Given the description of an element on the screen output the (x, y) to click on. 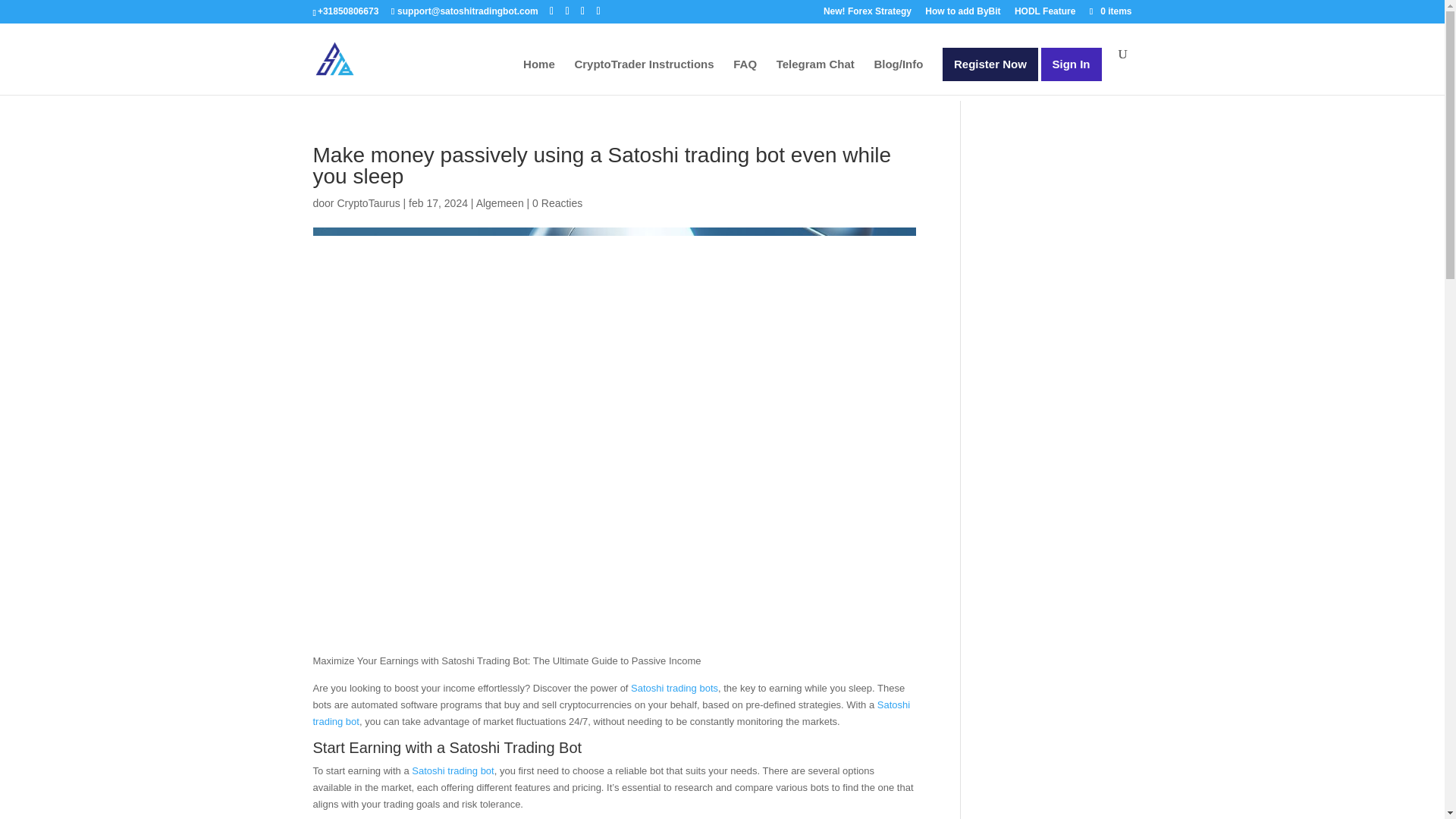
Satoshi trading bots (673, 687)
Satoshi trading bot (452, 770)
New! Forex Strategy (867, 14)
Posts van CryptoTaurus (367, 203)
Algemeen (500, 203)
0 items (1108, 10)
Satoshi trading bot (611, 713)
CryptoTaurus (367, 203)
How to add ByBit (962, 14)
HODL Feature (1044, 14)
Register Now (990, 64)
Home (538, 76)
Telegram Chat (815, 76)
Sign In (1070, 64)
CryptoTrader Instructions (643, 76)
